Given the description of an element on the screen output the (x, y) to click on. 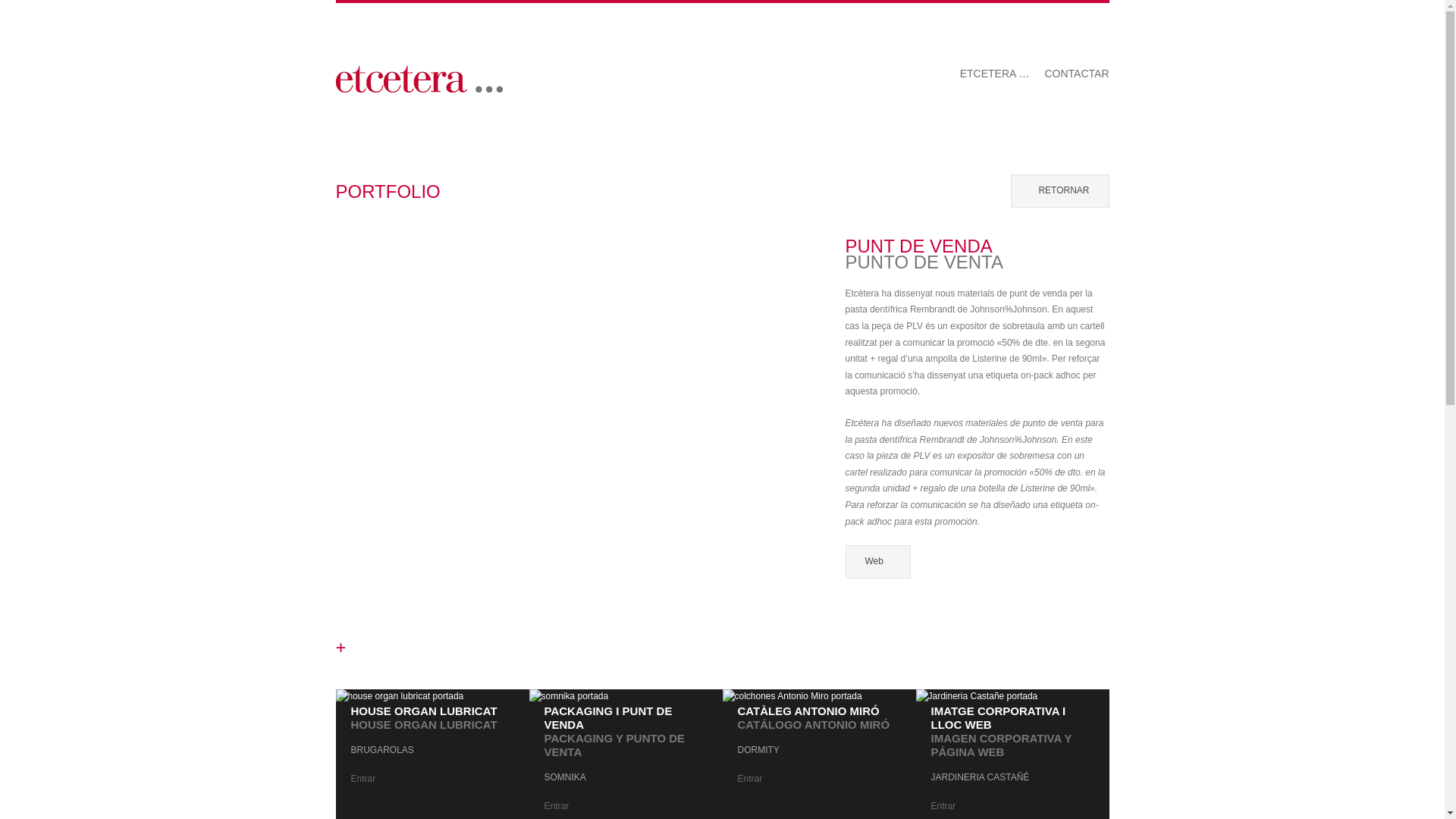
Web Element type: text (877, 561)
PACKAGING I PUNT DE VENDA
PACKAGING Y PUNTO DE VENTA Element type: text (614, 731)
HOUSE ORGAN LUBRICAT
HOUSE ORGAN LUBRICAT Element type: text (423, 717)
Entrar Element type: text (362, 778)
Entrar Element type: text (556, 805)
RETORNAR Element type: text (1059, 190)
Entrar Element type: text (943, 805)
Entrar Element type: text (749, 778)
CONTACTAR Element type: text (1076, 73)
